Given the description of an element on the screen output the (x, y) to click on. 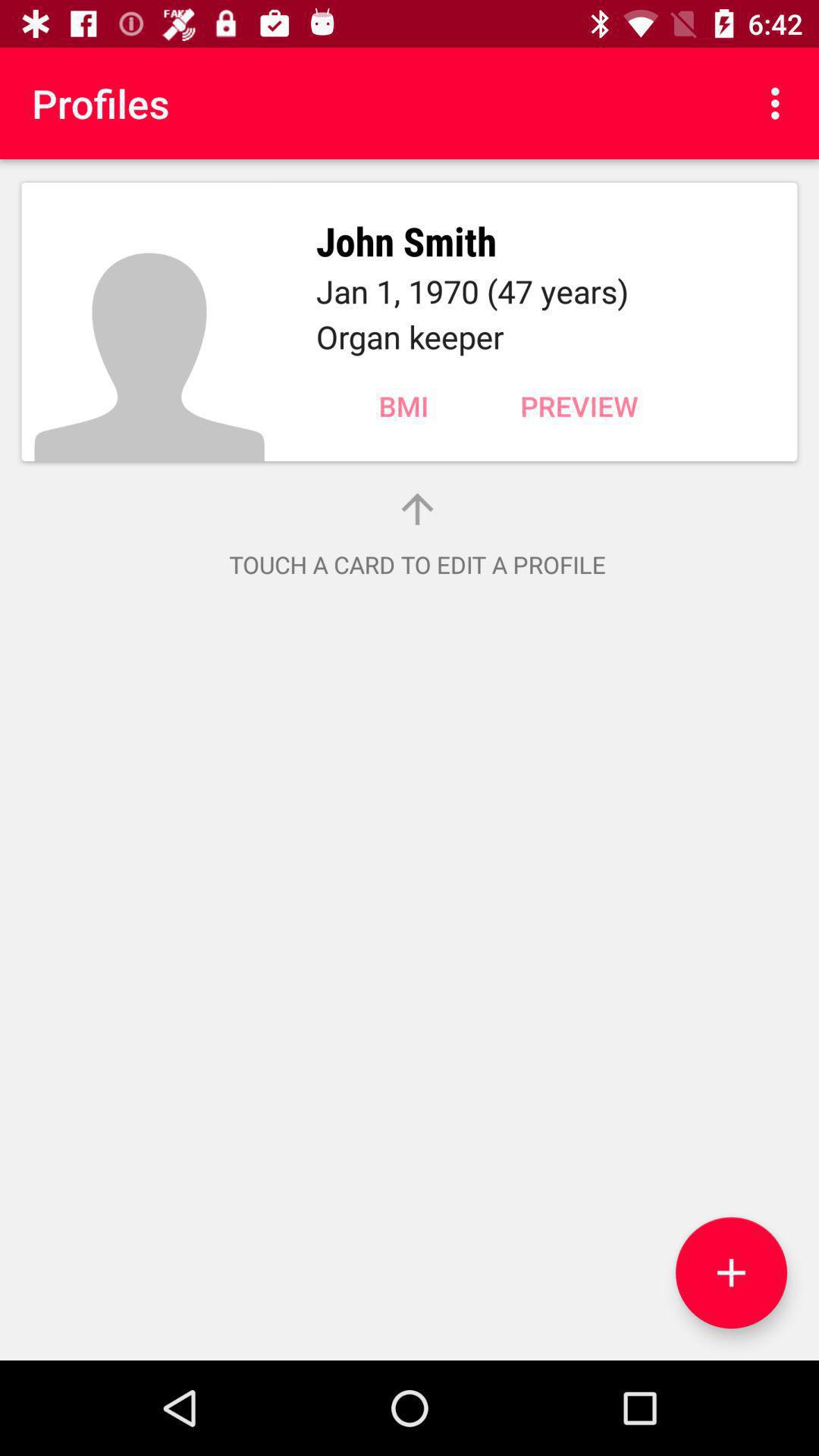
jump until the preview item (578, 405)
